Given the description of an element on the screen output the (x, y) to click on. 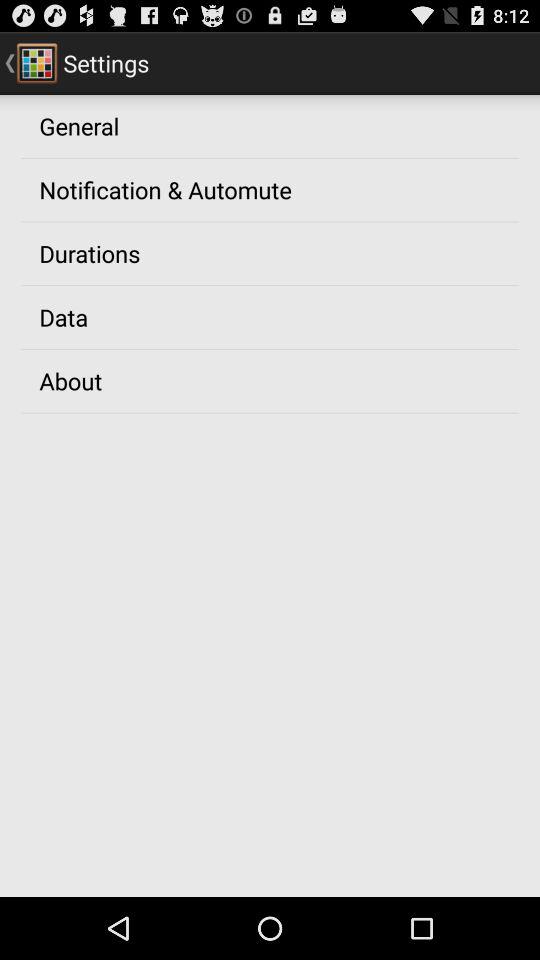
launch the data (63, 317)
